Given the description of an element on the screen output the (x, y) to click on. 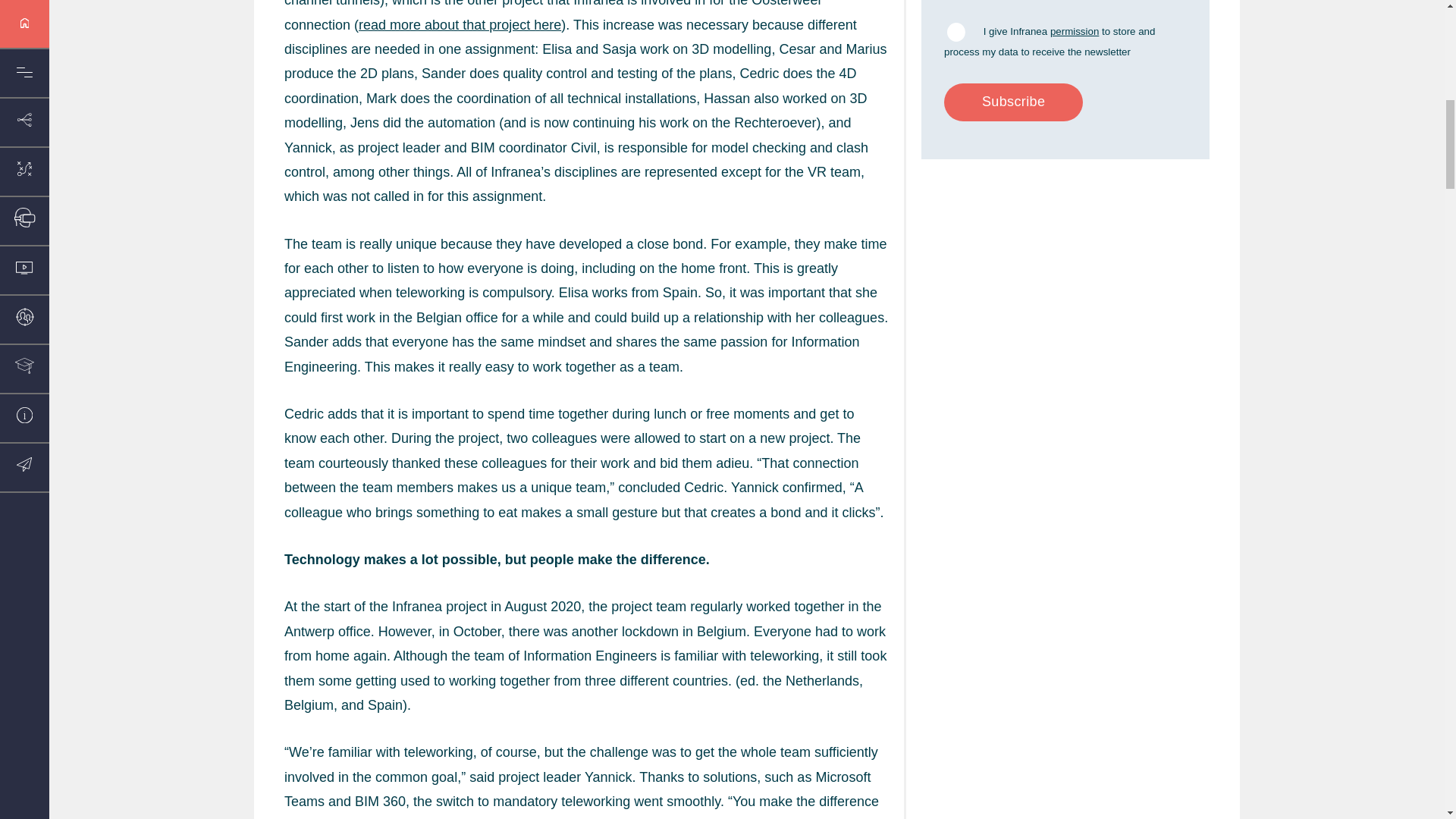
Subscribe (1013, 102)
